Given the description of an element on the screen output the (x, y) to click on. 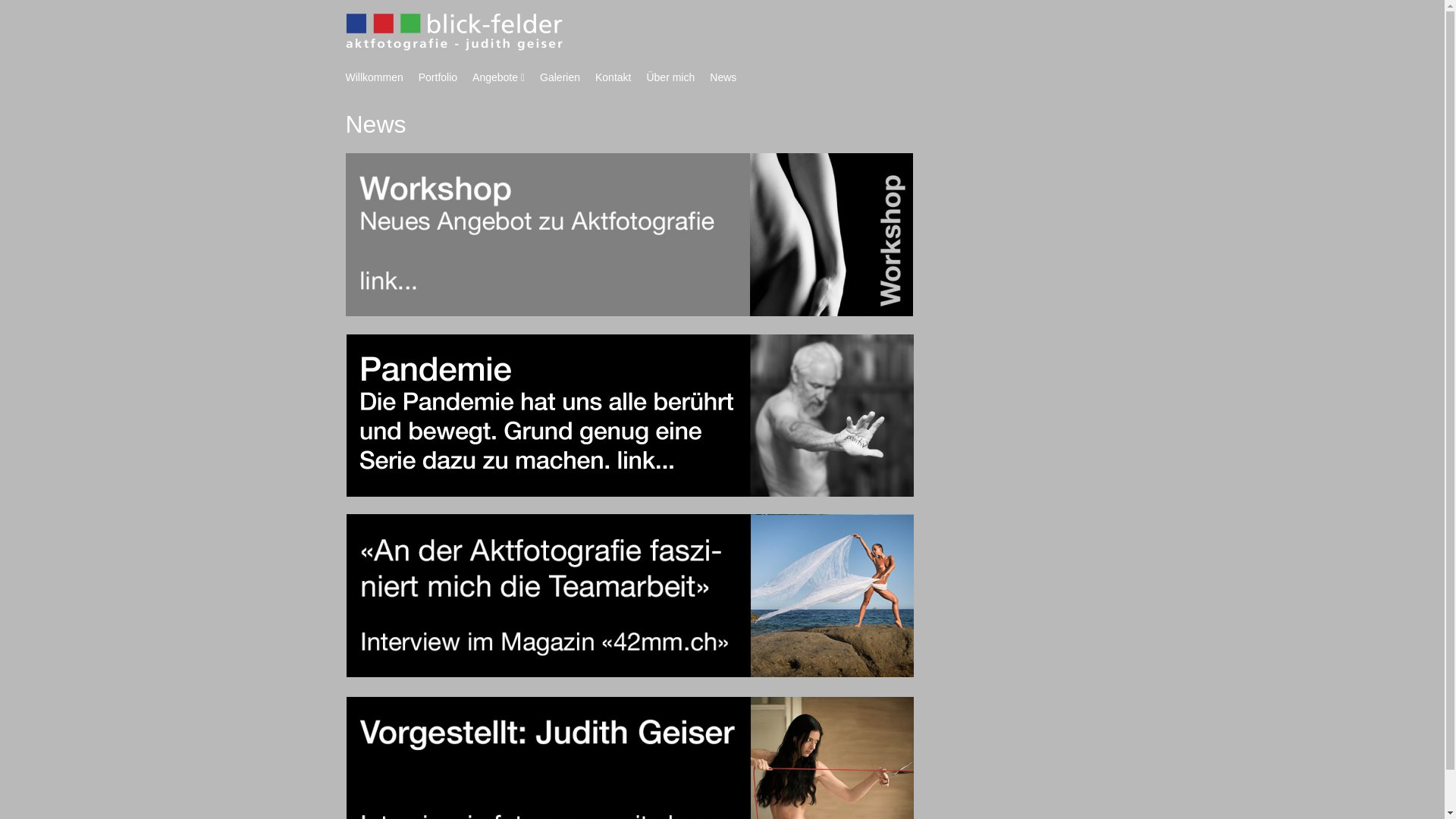
Galerien Element type: text (559, 77)
Willkommen Element type: text (374, 77)
Kontakt Element type: text (612, 77)
News Element type: text (722, 77)
Portfolio Element type: text (437, 77)
